Given the description of an element on the screen output the (x, y) to click on. 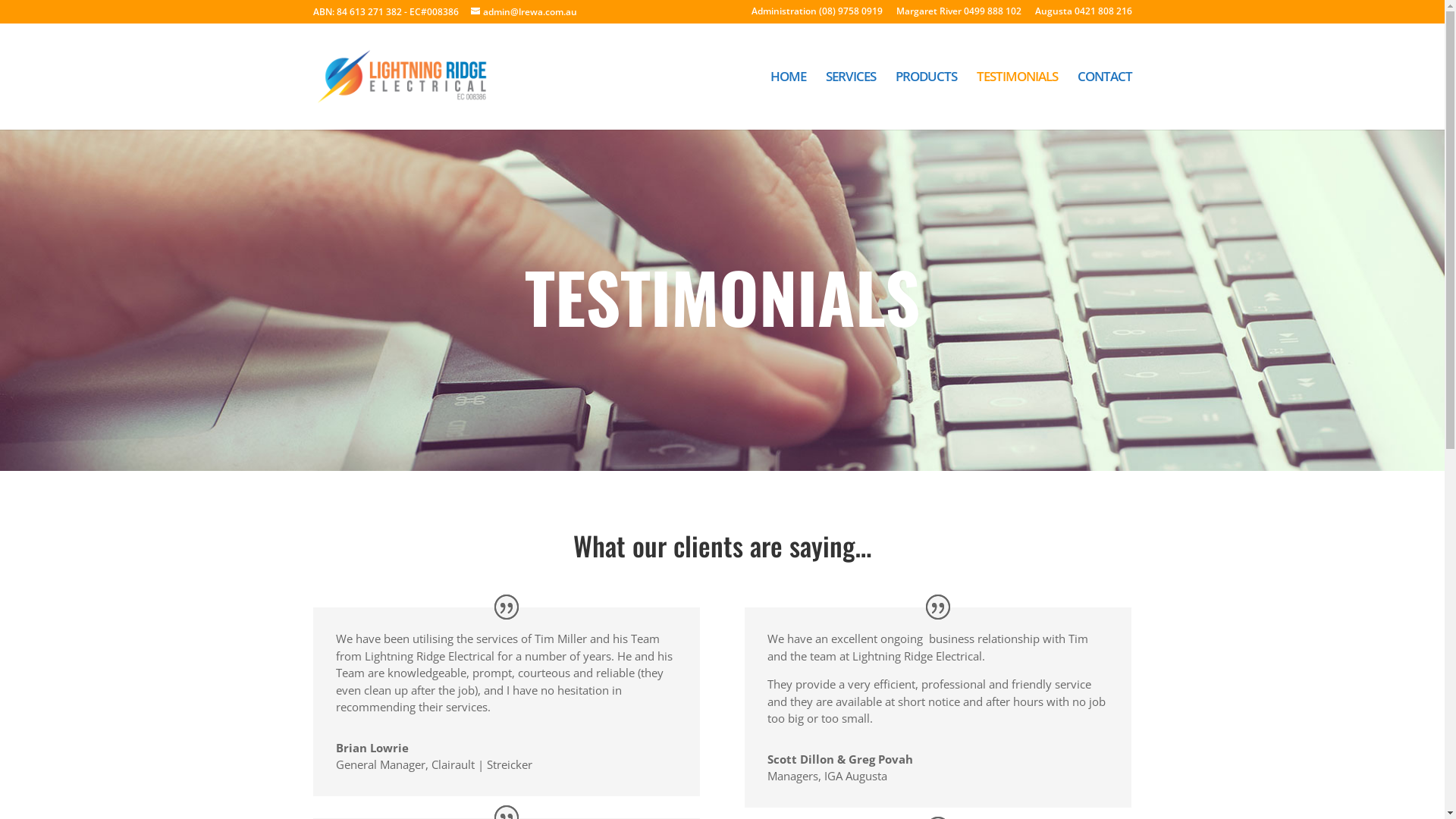
Administration (08) 9758 0919 Element type: text (815, 14)
SERVICES Element type: text (850, 100)
admin@lrewa.com.au Element type: text (523, 11)
TESTIMONIALS Element type: text (1016, 100)
Augusta 0421 808 216 Element type: text (1082, 14)
CONTACT Element type: text (1103, 100)
HOME Element type: text (788, 100)
Margaret River 0499 888 102 Element type: text (958, 14)
PRODUCTS Element type: text (925, 100)
